Given the description of an element on the screen output the (x, y) to click on. 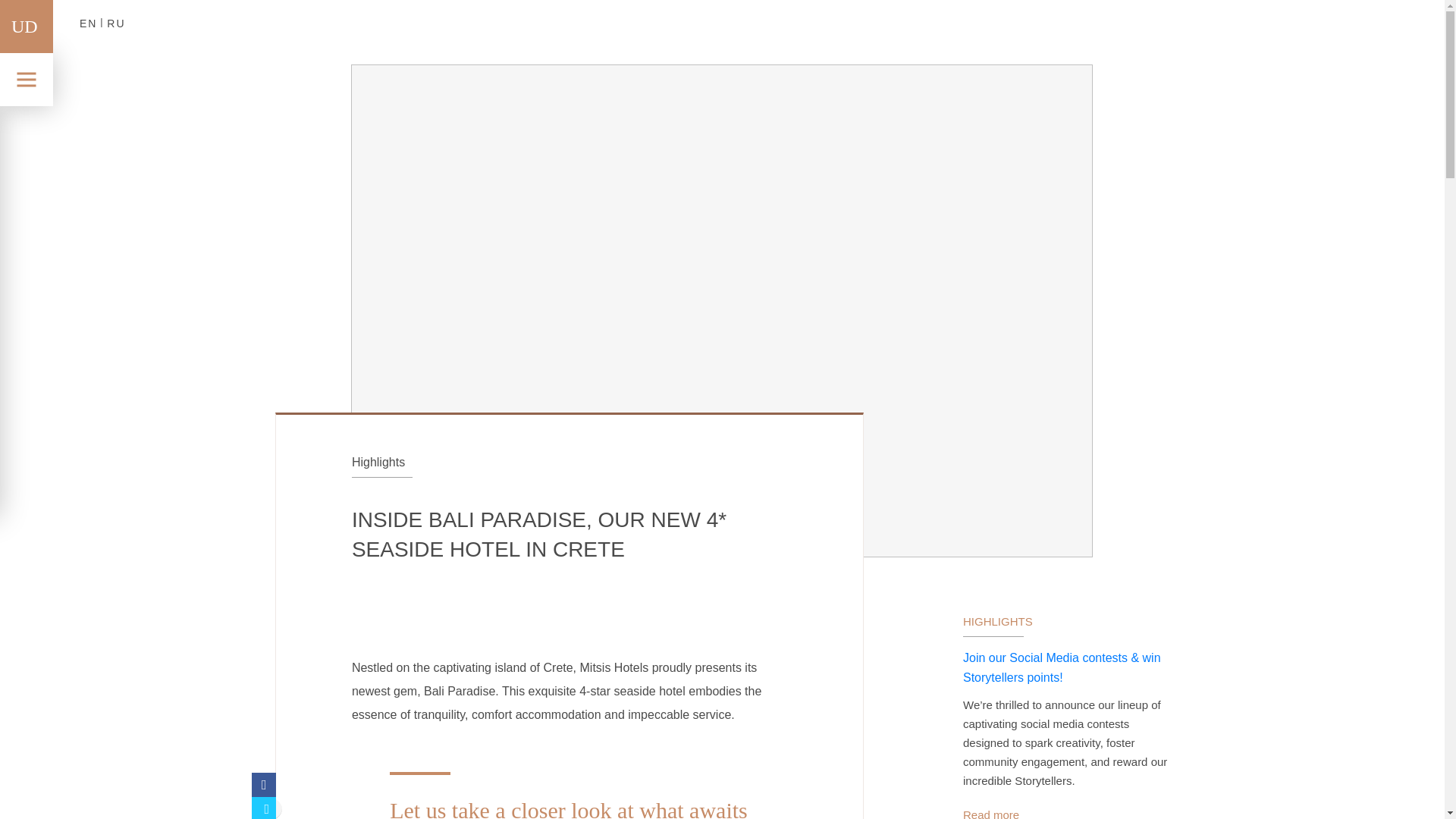
Highlights (378, 461)
HIGHLIGHTS (997, 621)
Read more (990, 813)
UD (24, 26)
